Given the description of an element on the screen output the (x, y) to click on. 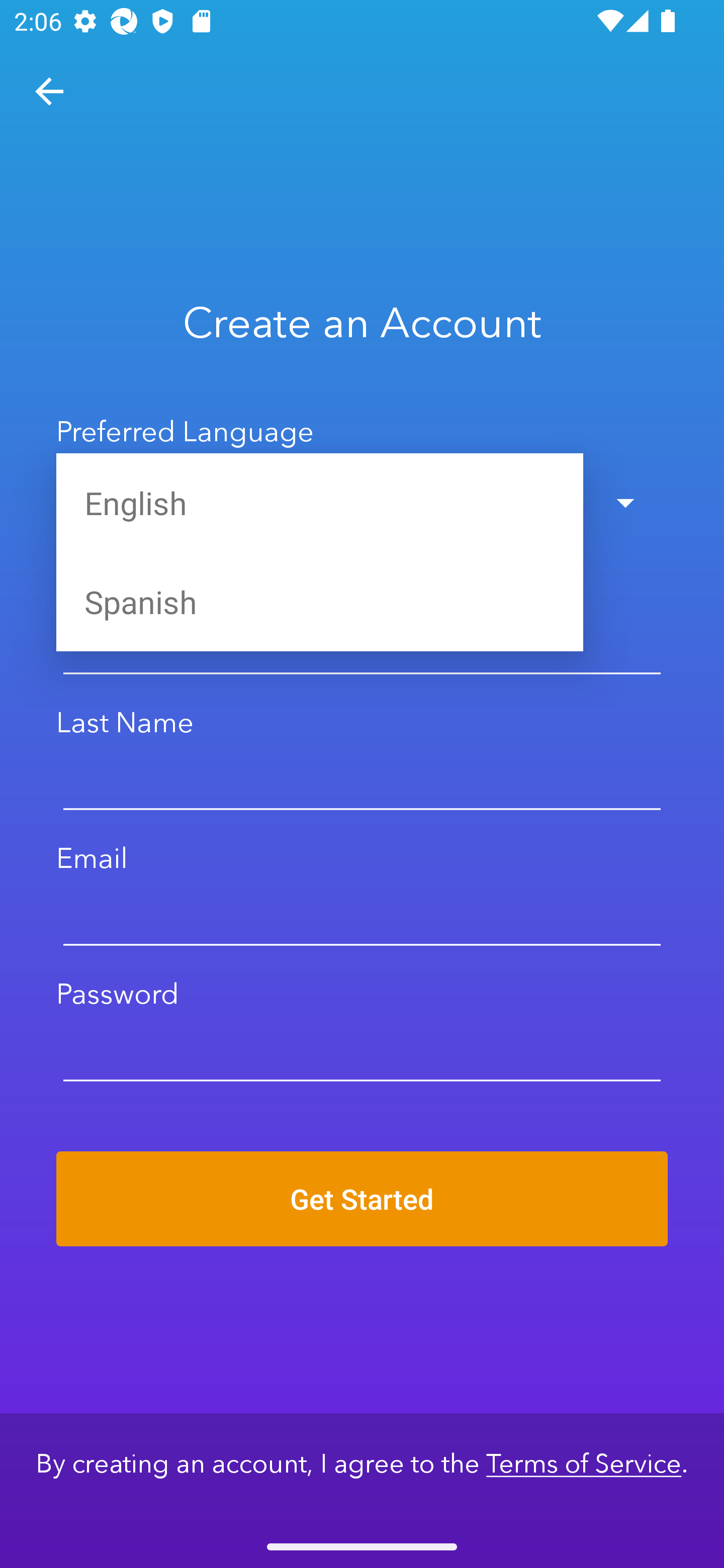
English (319, 502)
Spanish (319, 600)
